Given the description of an element on the screen output the (x, y) to click on. 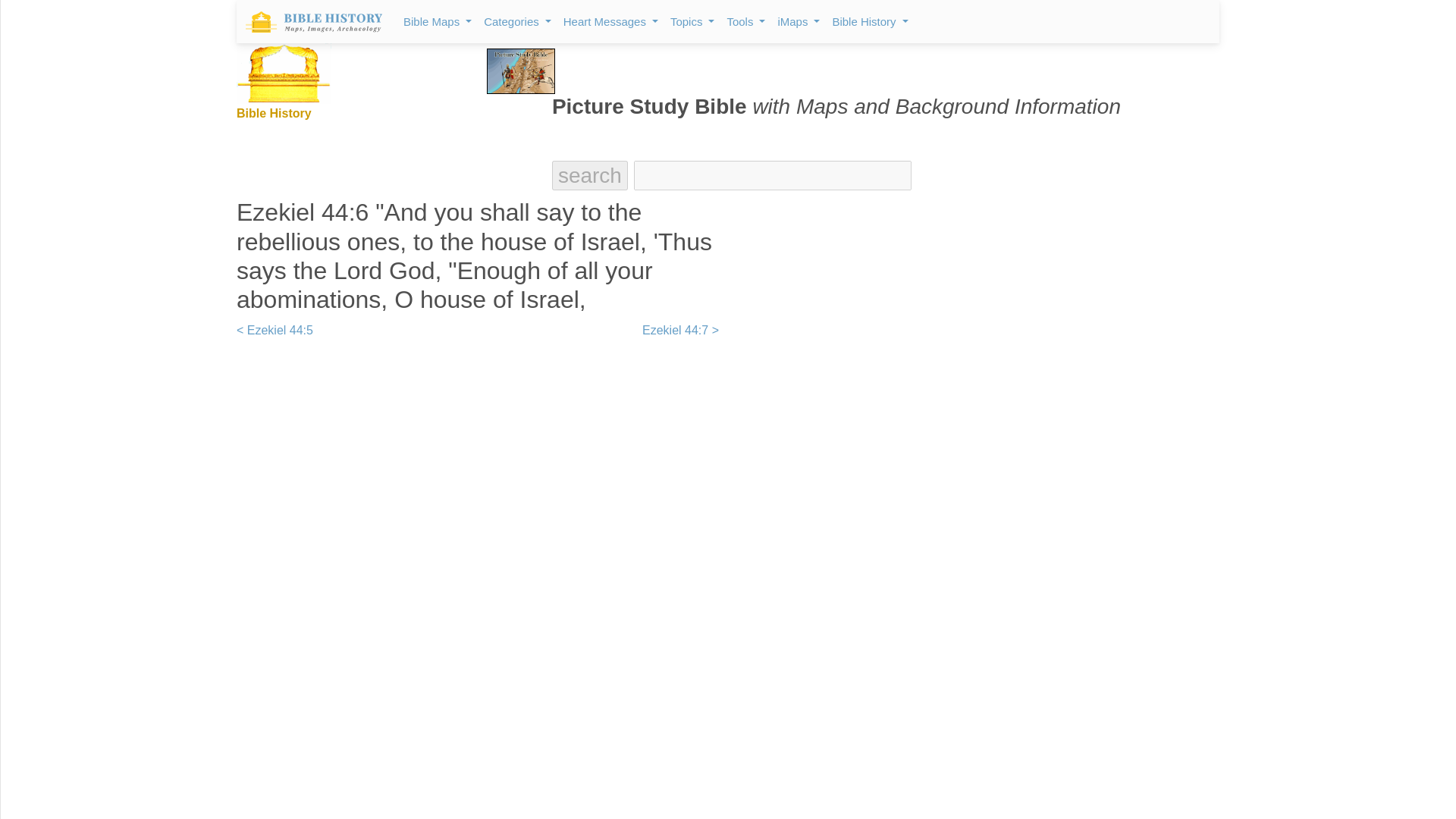
Bible Maps (437, 21)
search (589, 175)
